Given the description of an element on the screen output the (x, y) to click on. 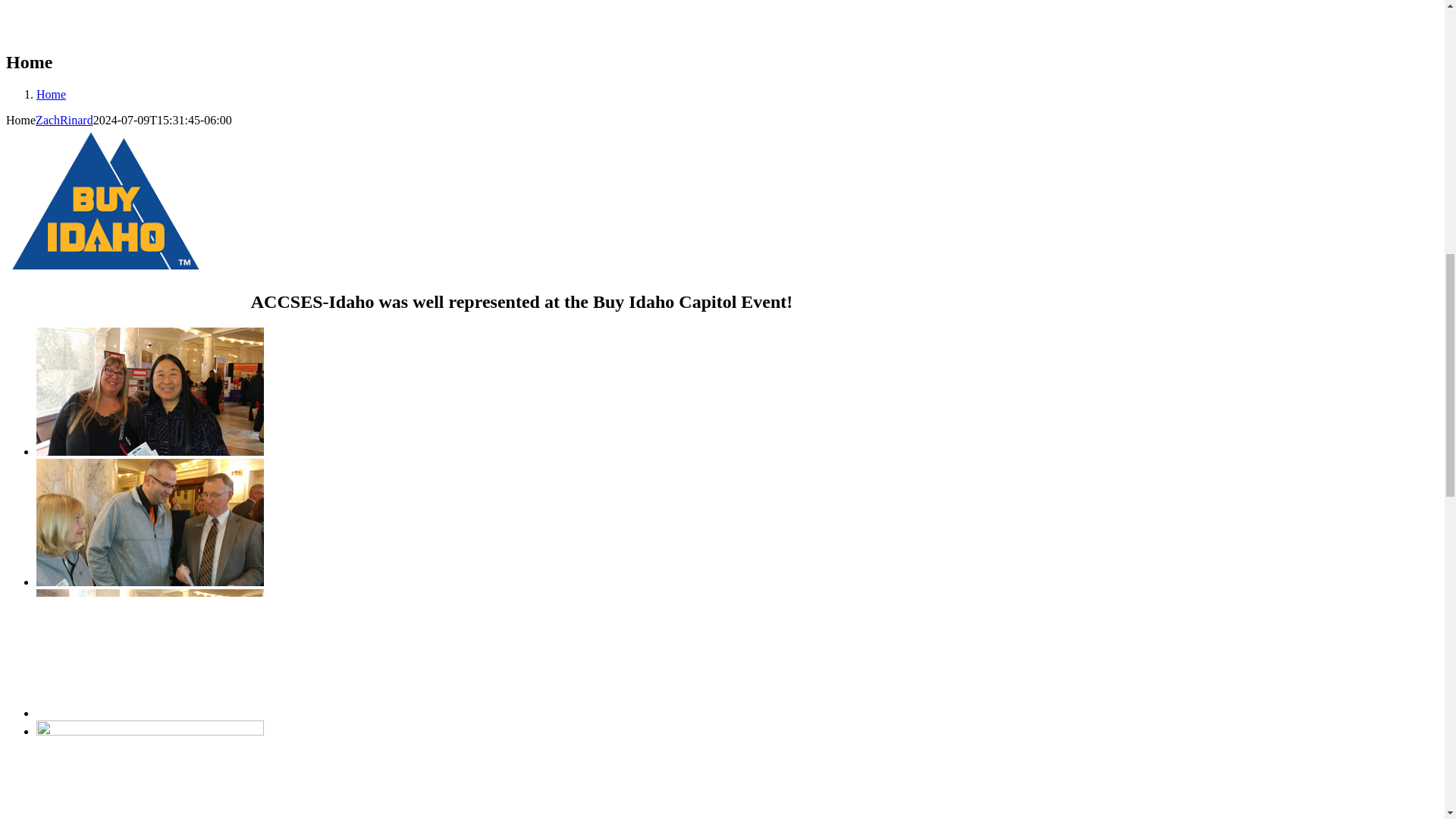
Posts by ZachRinard (63, 119)
buy idaho logo (104, 200)
Home (50, 93)
ZachRinard (63, 119)
